Given the description of an element on the screen output the (x, y) to click on. 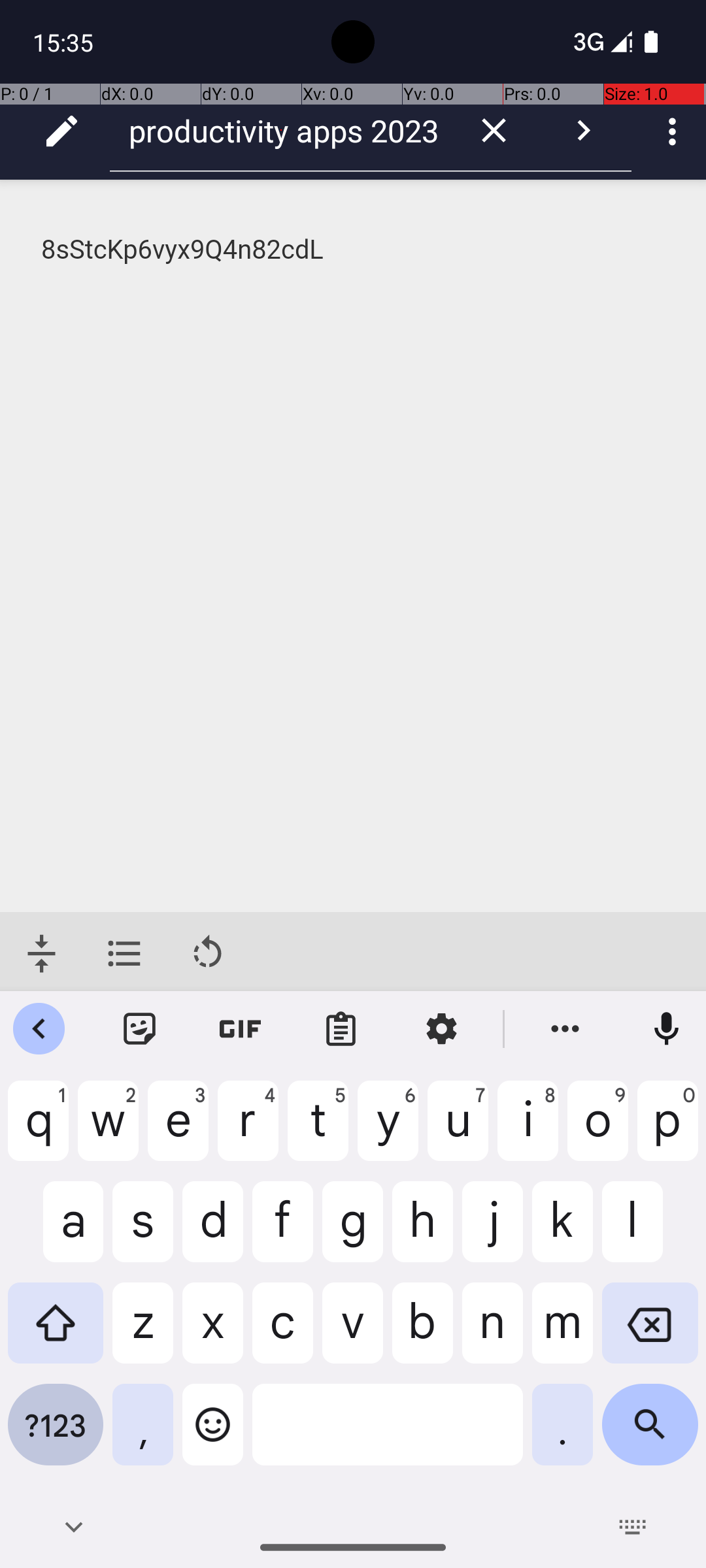
best productivity apps 2023 Element type: android.widget.AutoCompleteTextView (280, 130)
Clear query Element type: android.widget.ImageView (493, 130)
Submit query Element type: android.widget.ImageView (583, 130)
Jump to bottom Element type: android.widget.ImageView (41, 953)
Rotate Element type: android.widget.ImageView (207, 953)
8sStcKp6vyx9Q4n82cdL Element type: android.widget.TextView (354, 249)
